Given the description of an element on the screen output the (x, y) to click on. 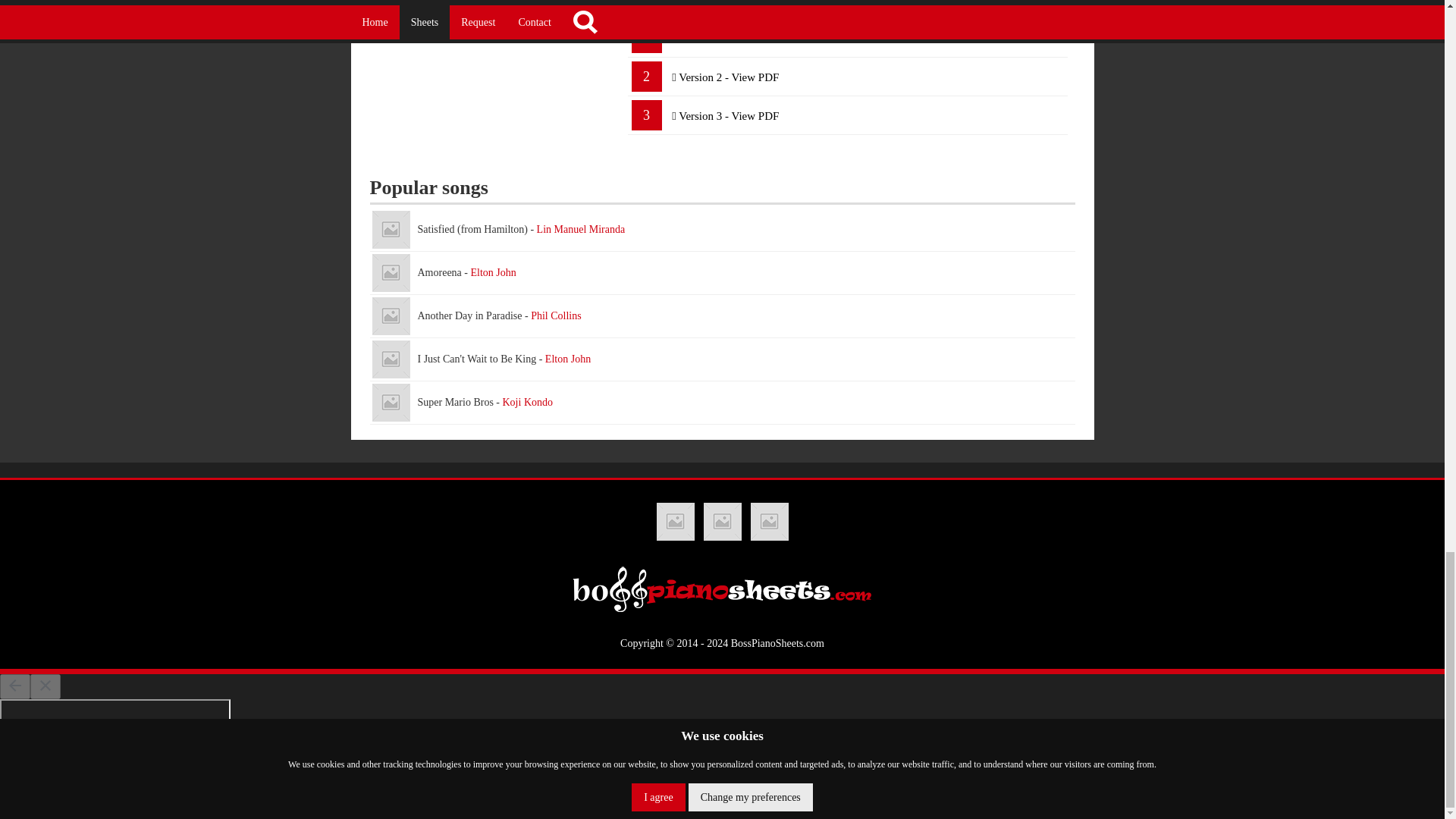
Super Mario Bros - Koji Kondo (722, 403)
I Just Can't Wait to Be King - Elton John (722, 359)
Another Day in Paradise - Phil Collins (390, 315)
Another Day in Paradise - Phil Collins (722, 316)
Amoreena - Elton John (390, 272)
BossPianoSheets.com (777, 643)
I Just Can't Wait to Be King - Elton John (390, 359)
contact us (906, 2)
Amoreena - Elton John (722, 272)
